Given the description of an element on the screen output the (x, y) to click on. 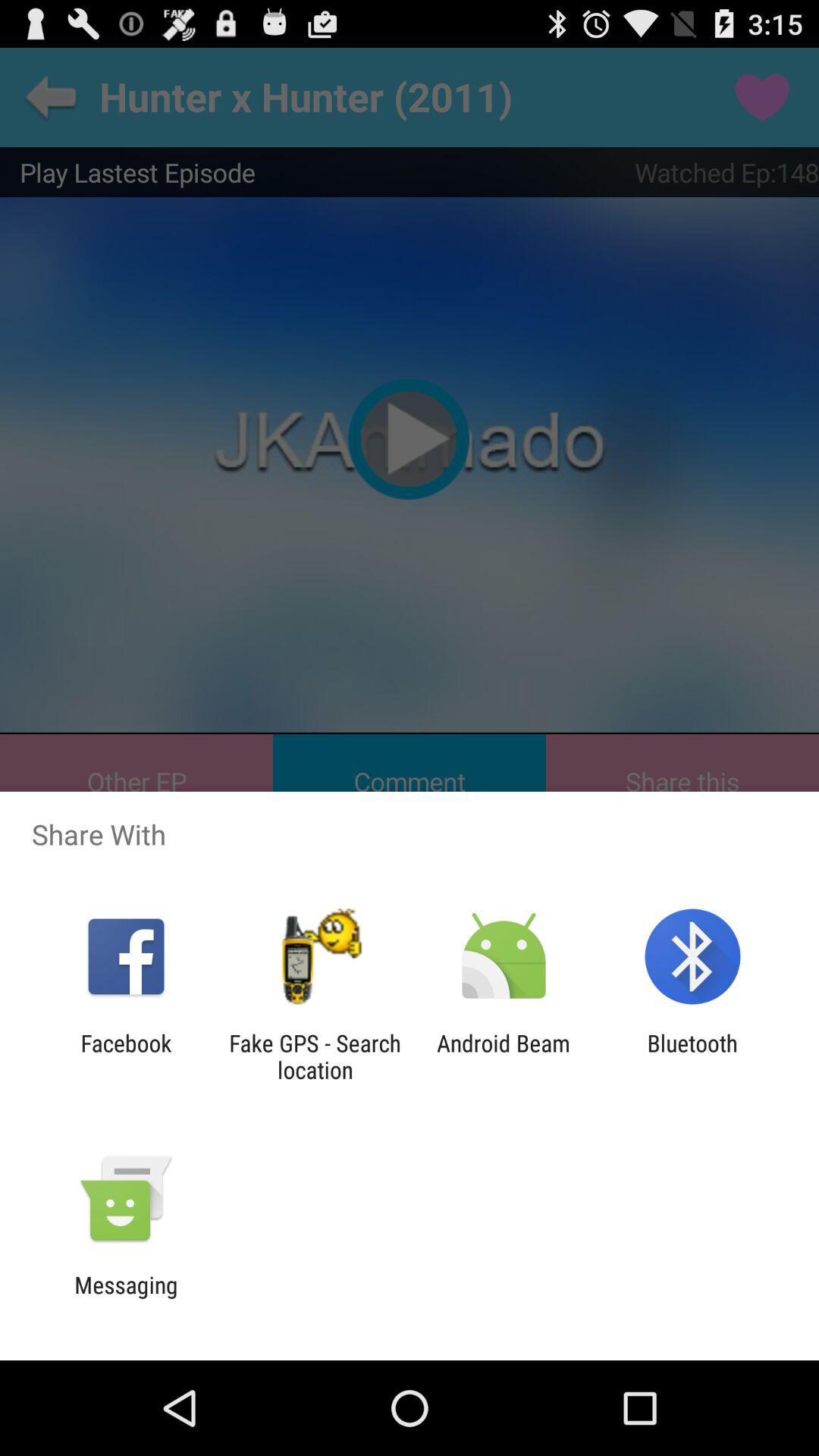
swipe to facebook item (125, 1056)
